Given the description of an element on the screen output the (x, y) to click on. 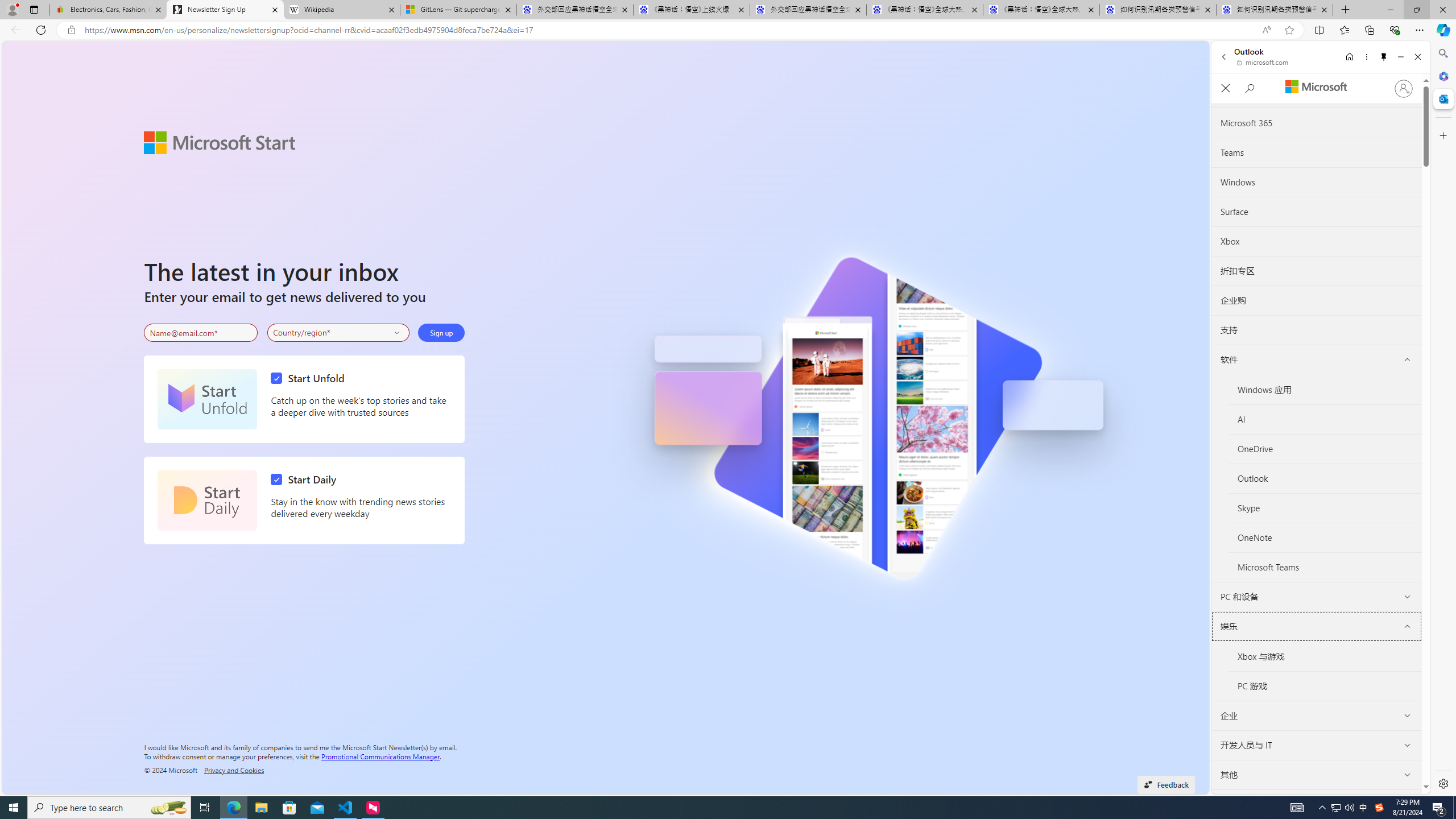
Unpin side pane (1383, 56)
Teams (1316, 152)
Feedback (1166, 784)
Customize (1442, 135)
AI (1325, 419)
